Given the description of an element on the screen output the (x, y) to click on. 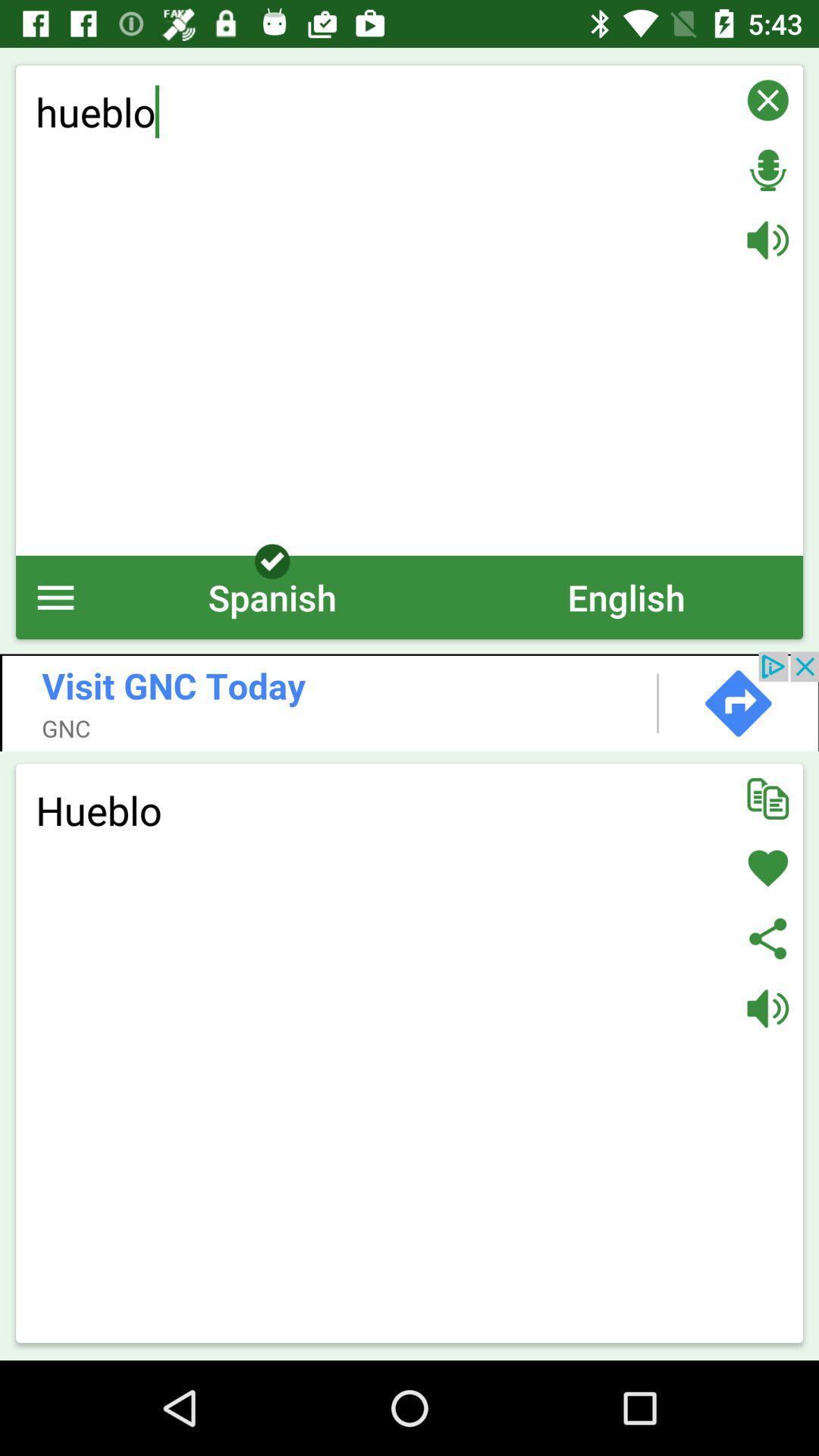
turn on the icon next to spanish icon (55, 597)
